Given the description of an element on the screen output the (x, y) to click on. 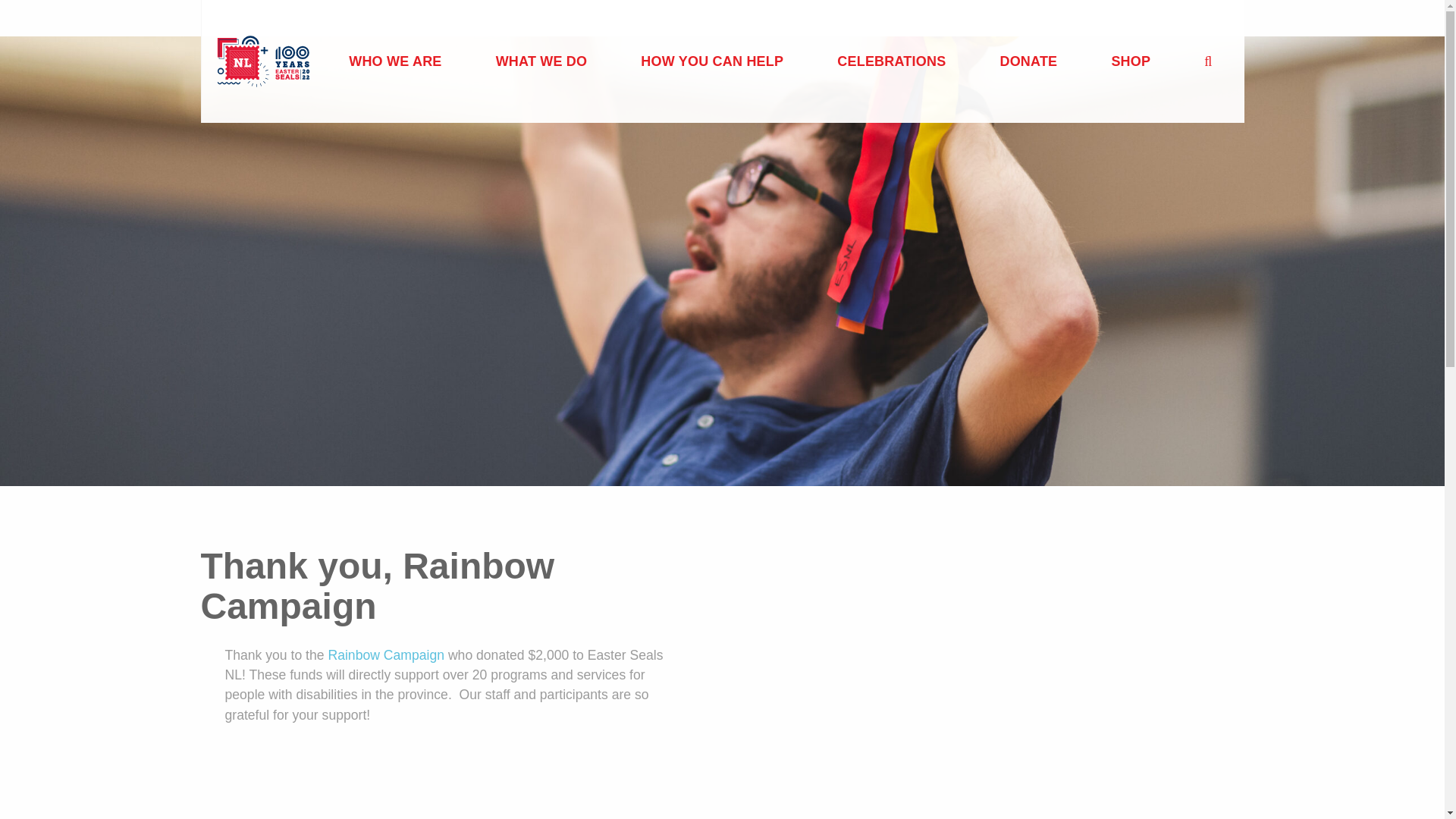
HOW YOU CAN HELP (711, 61)
